Given the description of an element on the screen output the (x, y) to click on. 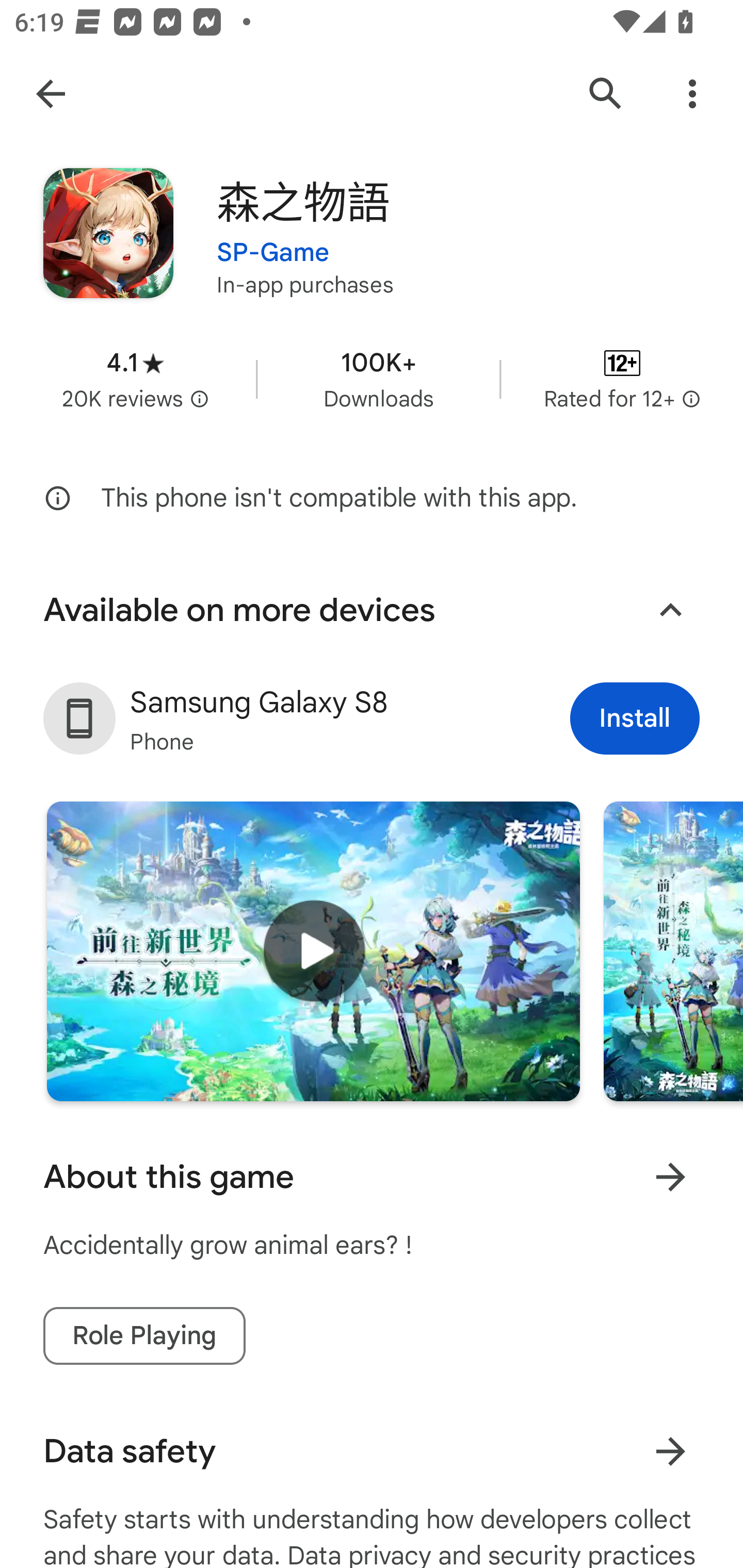
Navigate up (50, 93)
Search Google Play (605, 93)
More Options (692, 93)
SP-Game (272, 240)
Average rating 4.1 stars in 20 thousand reviews (135, 379)
Content rating Rated for 12+ (622, 379)
Available on more devices Collapse (371, 609)
Collapse (670, 610)
Install (634, 718)
Play trailer for "森之物語" (313, 950)
Screenshot "1" of "5" (673, 950)
About this game Learn more About this game (371, 1176)
Learn more About this game (670, 1176)
Role Playing tag (144, 1335)
Data safety Learn more about data safety (371, 1451)
Learn more about data safety (670, 1451)
